Given the description of an element on the screen output the (x, y) to click on. 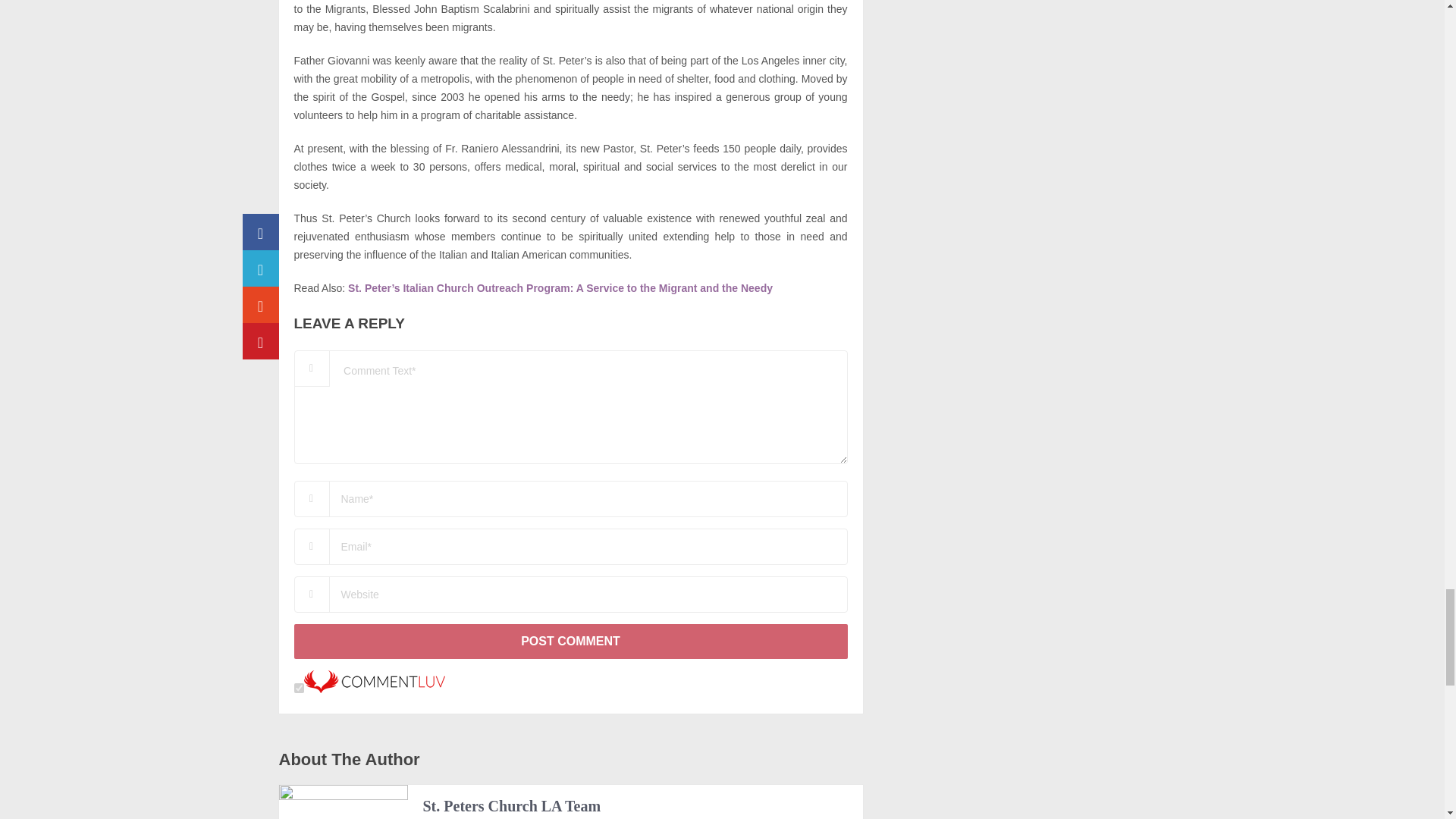
St. Peters Church LA Team (512, 805)
CommentLuv is enabled (373, 689)
on (299, 687)
Post Comment (570, 641)
Post Comment (570, 641)
